Given the description of an element on the screen output the (x, y) to click on. 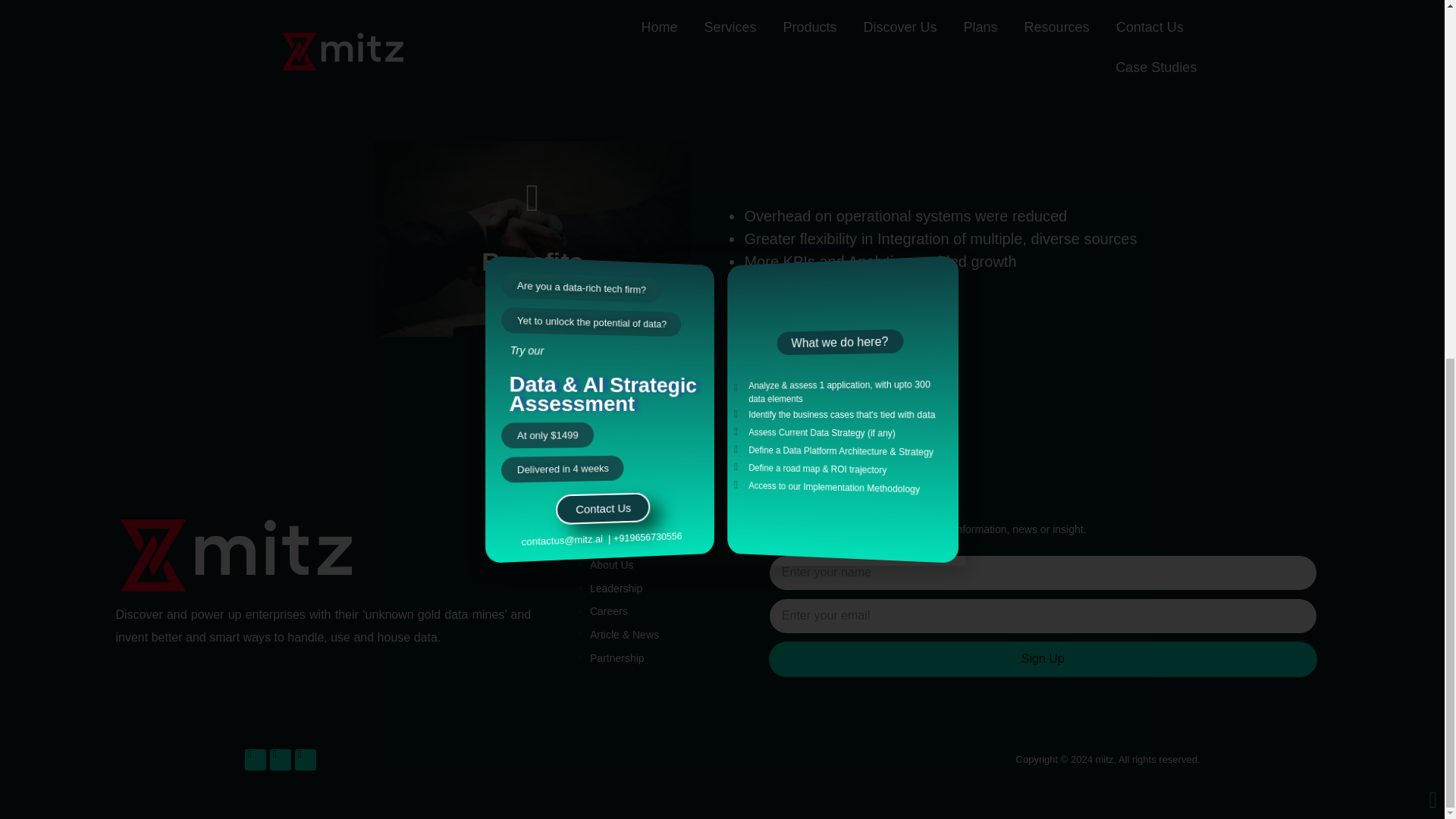
Newsletter (822, 504)
Leadership (610, 588)
Sign Up (1042, 659)
Careers (603, 611)
Partnership (611, 658)
About Us (606, 565)
